Given the description of an element on the screen output the (x, y) to click on. 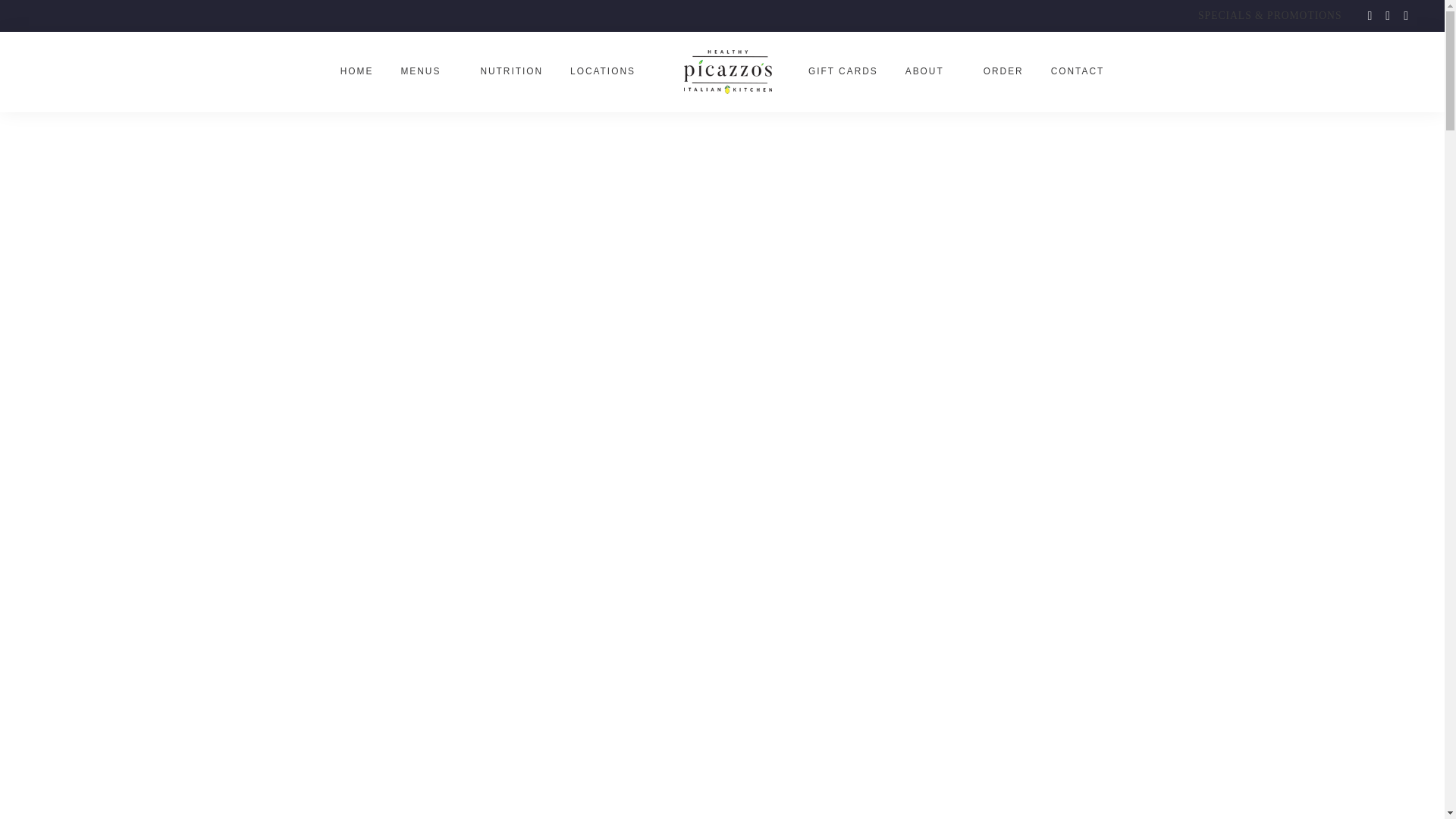
MENUS (420, 71)
ORDER (1003, 71)
LOCATIONS (602, 71)
HOME (357, 71)
NUTRITION (511, 71)
CONTACT (1078, 71)
ABOUT (924, 71)
GIFT CARDS (842, 71)
